Given the description of an element on the screen output the (x, y) to click on. 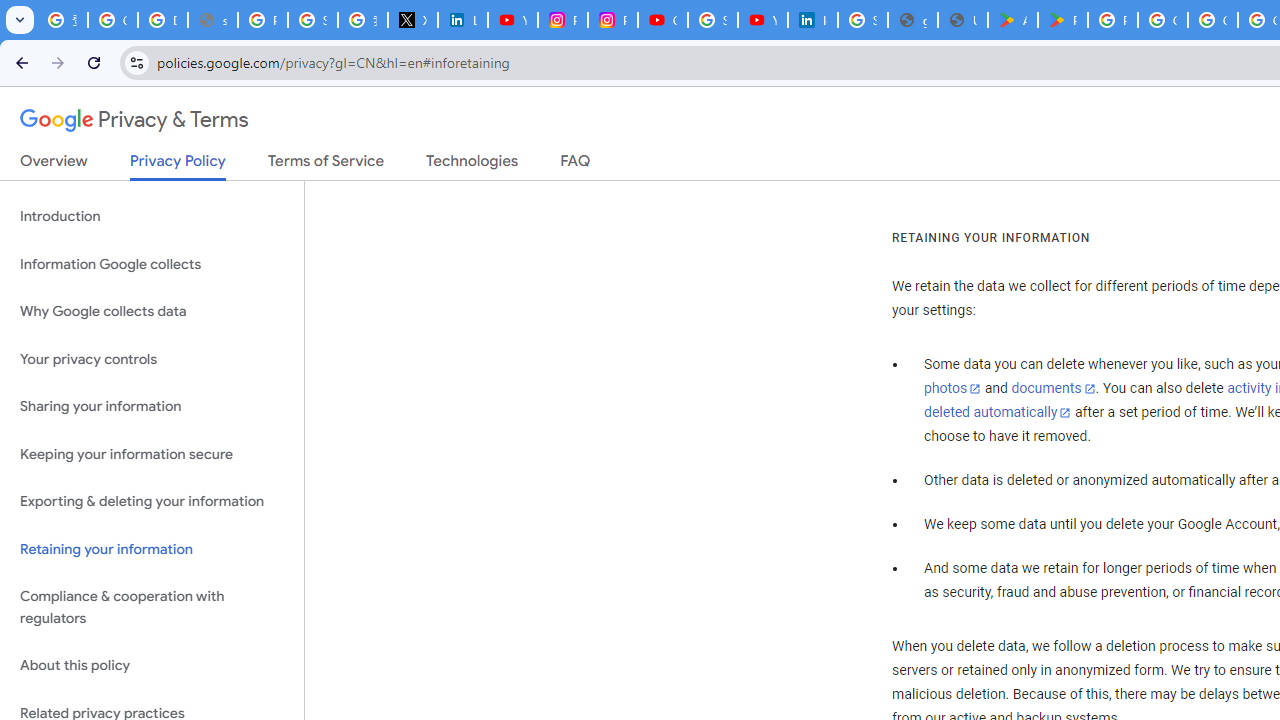
User Details (963, 20)
